Given the description of an element on the screen output the (x, y) to click on. 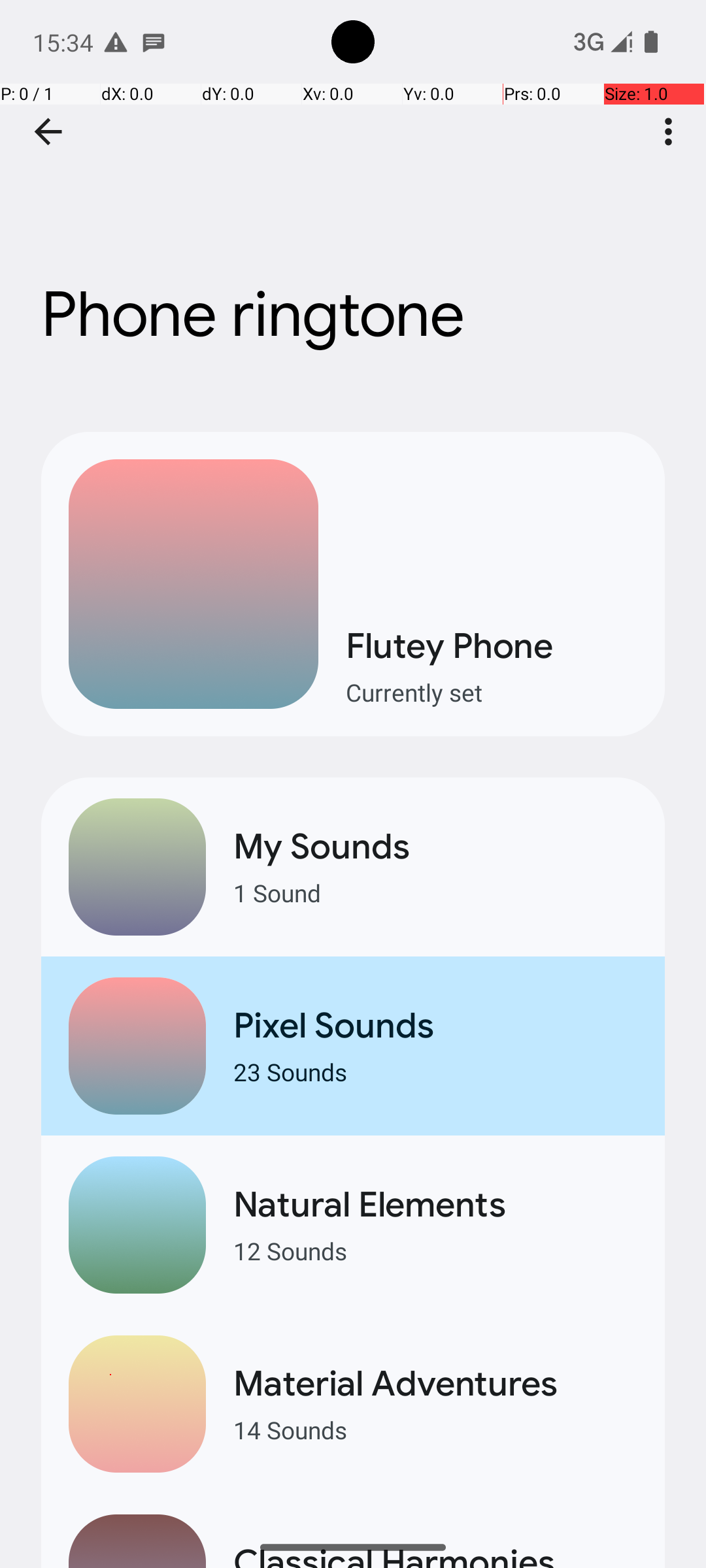
Phone ringtone Element type: android.widget.FrameLayout (353, 195)
Flutey Phone Element type: android.widget.TextView (491, 645)
Currently set Element type: android.widget.TextView (491, 691)
My Sounds Element type: android.widget.TextView (435, 846)
1 Sound Element type: android.widget.TextView (435, 892)
Pixel Sounds Element type: android.widget.TextView (435, 1025)
23 Sounds Element type: android.widget.TextView (435, 1071)
Natural Elements Element type: android.widget.TextView (435, 1204)
12 Sounds Element type: android.widget.TextView (435, 1250)
Material Adventures Element type: android.widget.TextView (435, 1383)
Classical Harmonies Element type: android.widget.TextView (435, 1554)
